Given the description of an element on the screen output the (x, y) to click on. 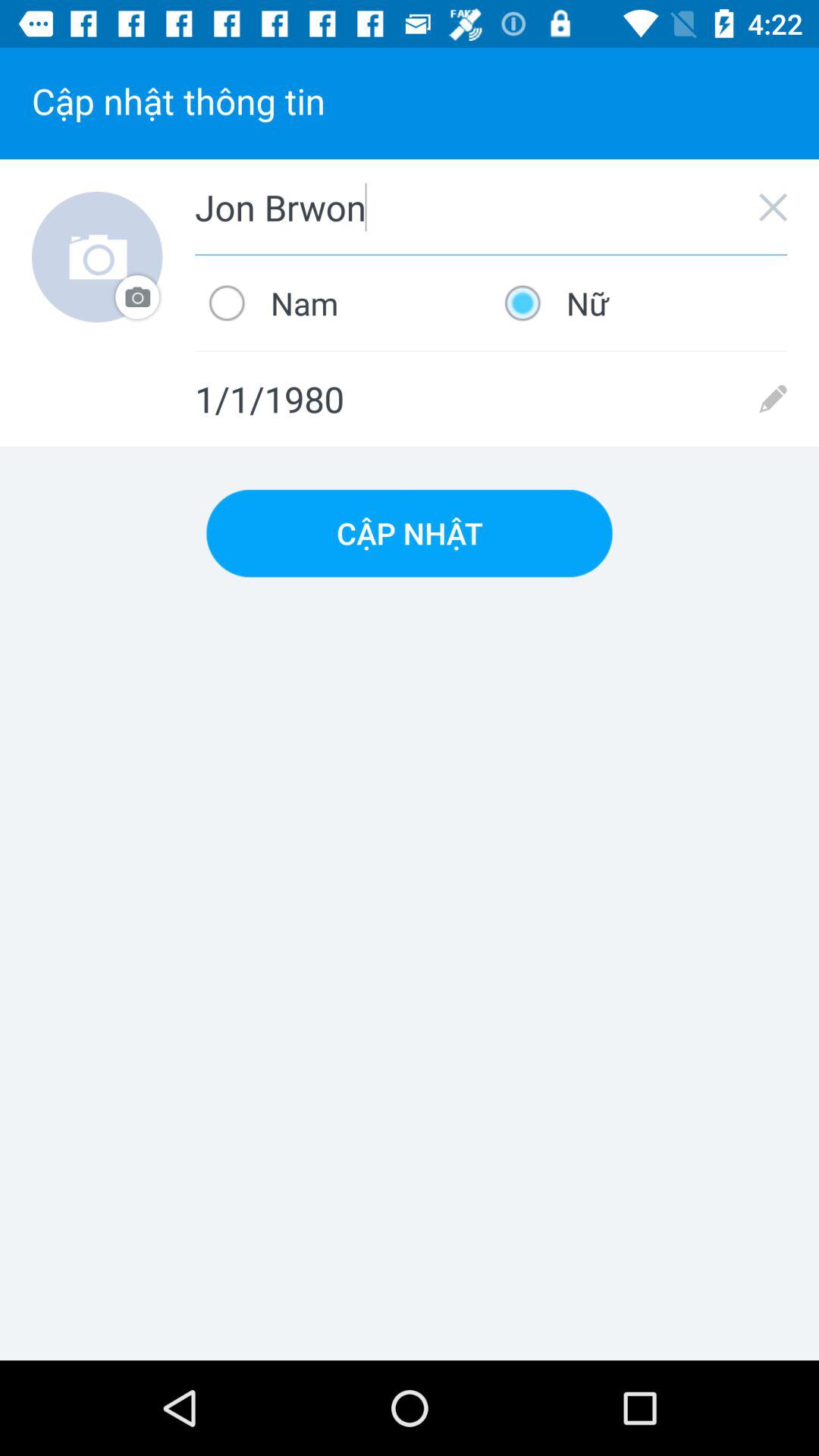
turn off the nam icon (342, 302)
